Given the description of an element on the screen output the (x, y) to click on. 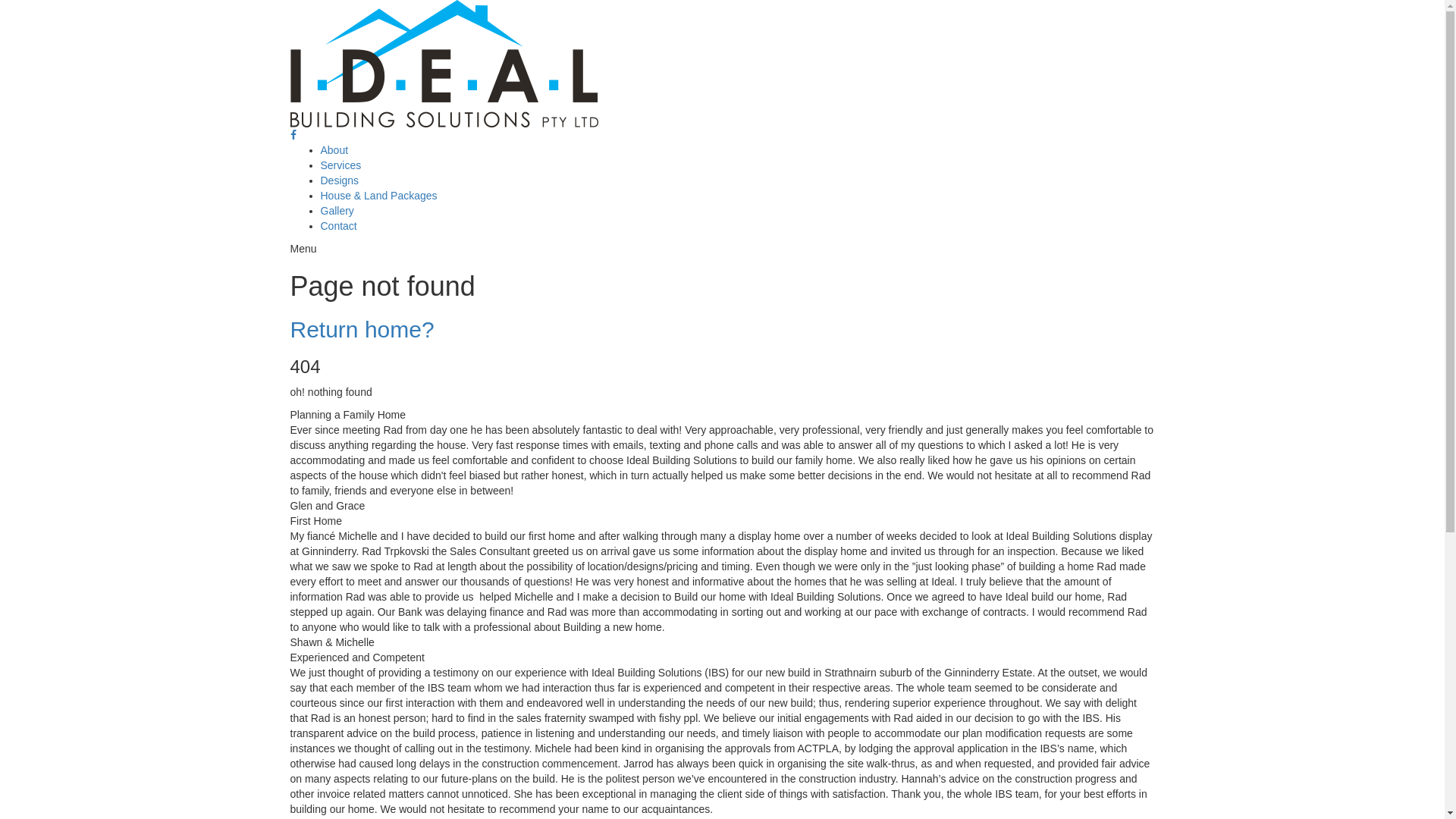
Designs Element type: text (339, 180)
Return home? Element type: text (361, 329)
House & Land Packages Element type: text (378, 195)
Services Element type: text (340, 165)
Gallery Element type: text (336, 210)
Contact Element type: text (338, 225)
About Element type: text (334, 150)
